Given the description of an element on the screen output the (x, y) to click on. 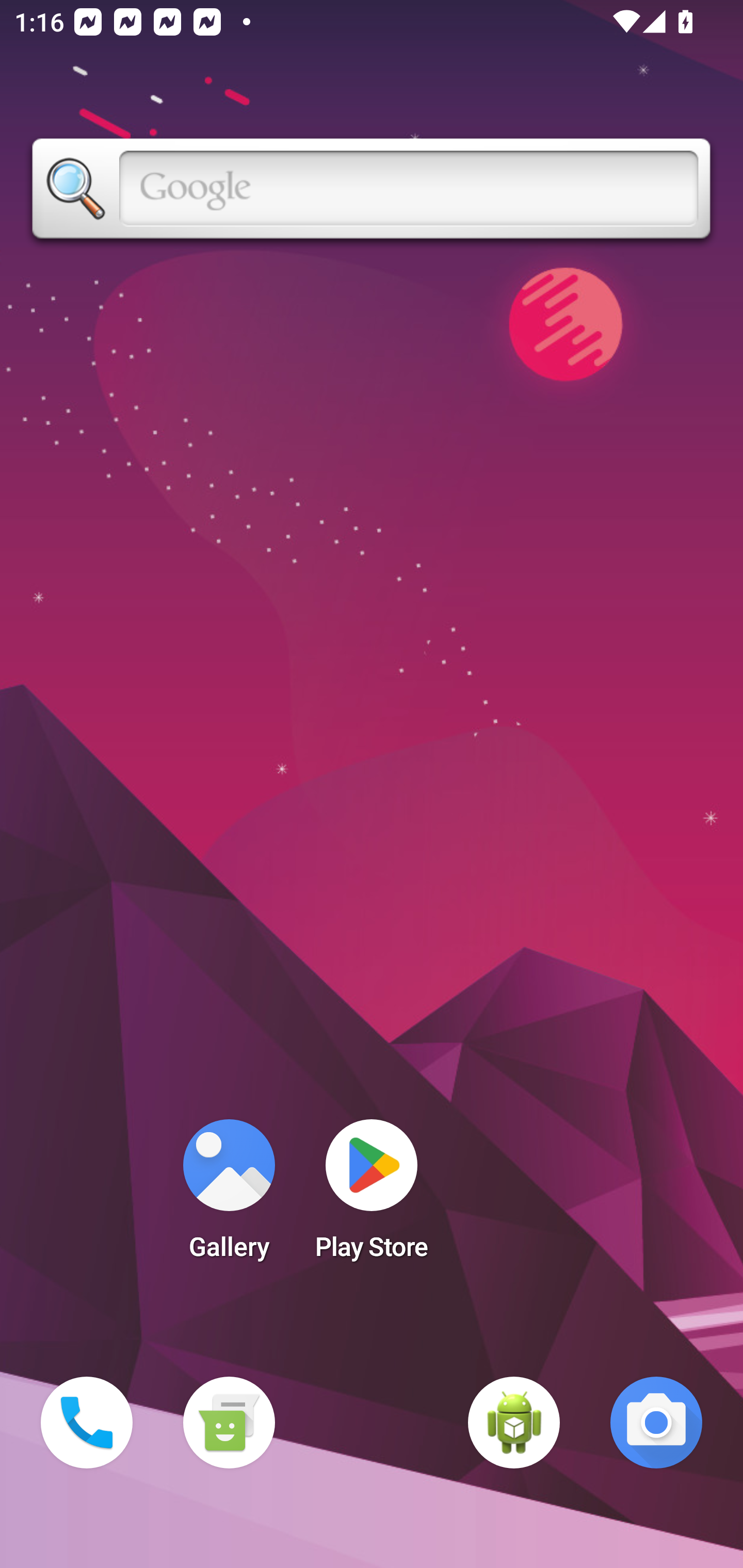
Gallery (228, 1195)
Play Store (371, 1195)
Phone (86, 1422)
Messaging (228, 1422)
WebView Browser Tester (513, 1422)
Camera (656, 1422)
